Given the description of an element on the screen output the (x, y) to click on. 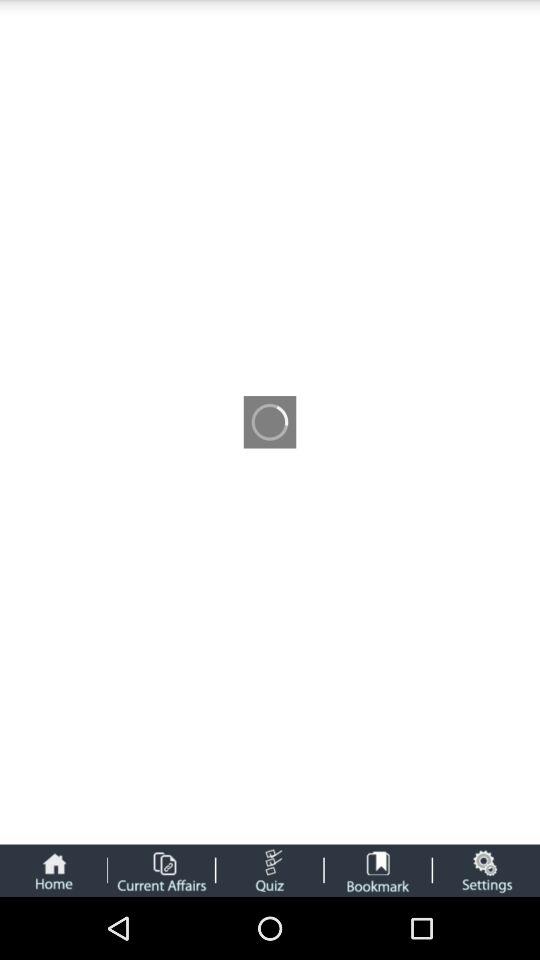
go to bookmarks (378, 870)
